Given the description of an element on the screen output the (x, y) to click on. 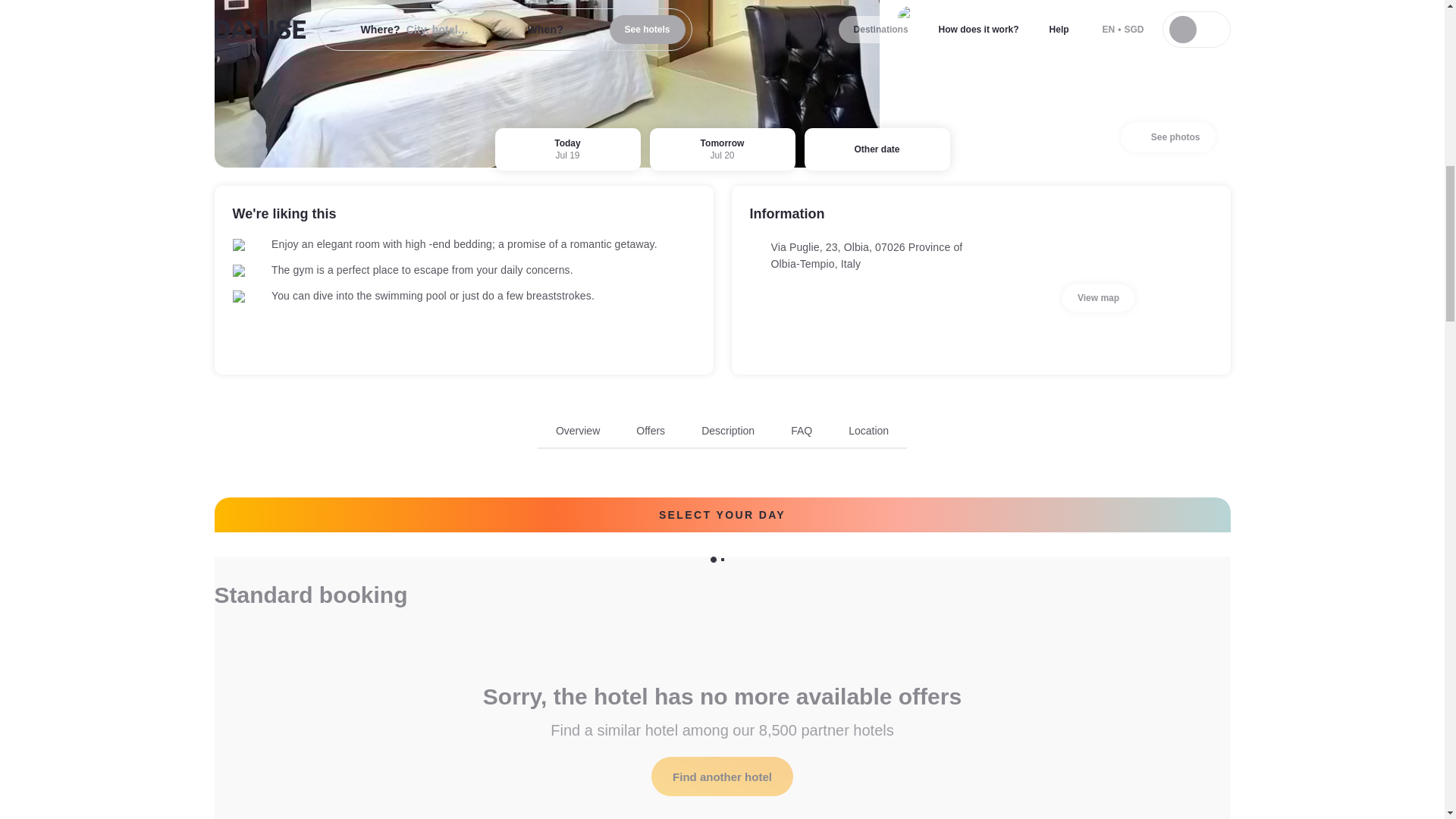
View map (1098, 298)
FAQ (801, 430)
See photos (1168, 137)
Overview (722, 435)
Description (577, 430)
Find another hotel (727, 430)
Offers (721, 776)
Location (650, 430)
